Given the description of an element on the screen output the (x, y) to click on. 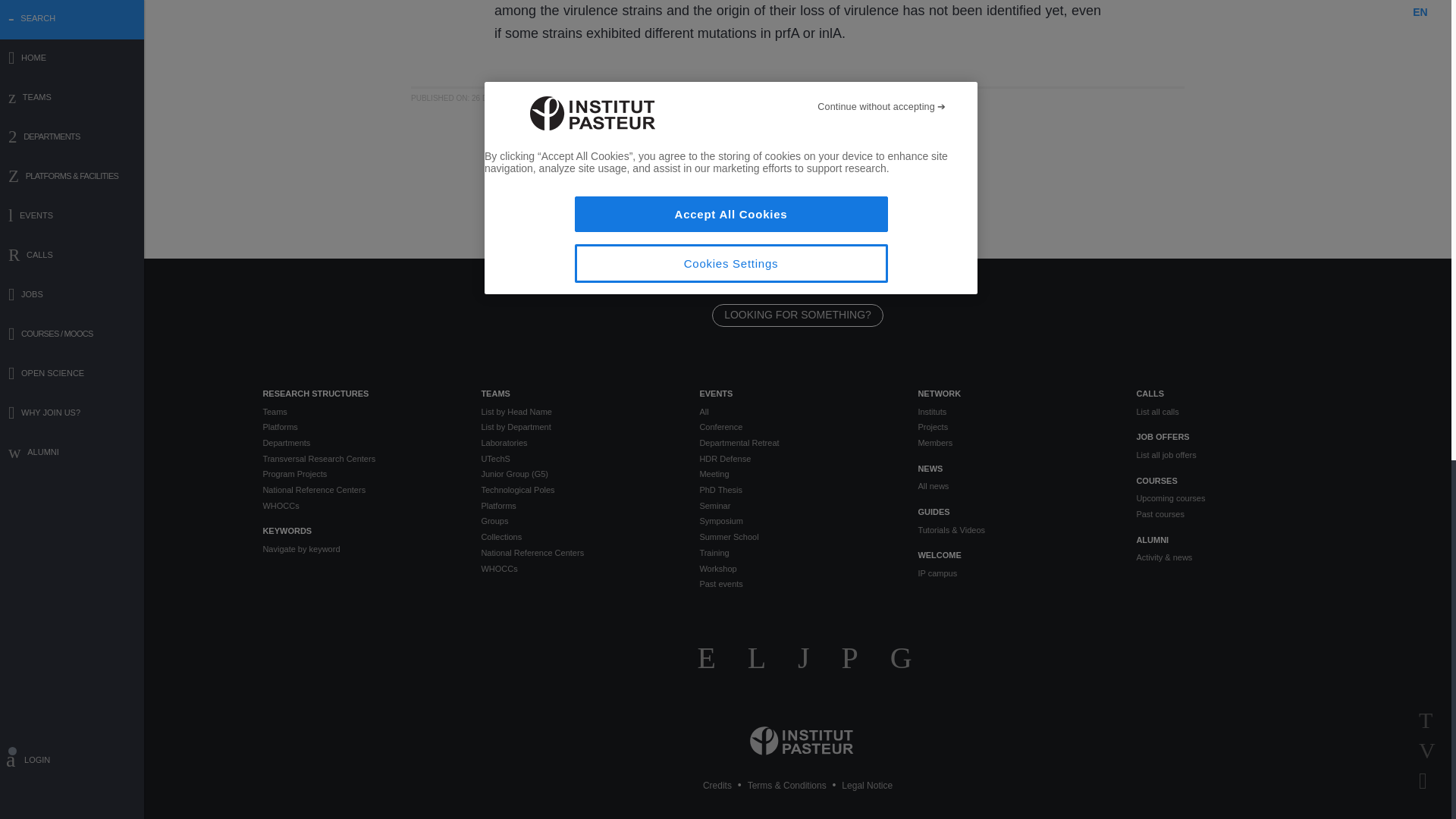
Teams (360, 411)
Platforms (360, 427)
